Given the description of an element on the screen output the (x, y) to click on. 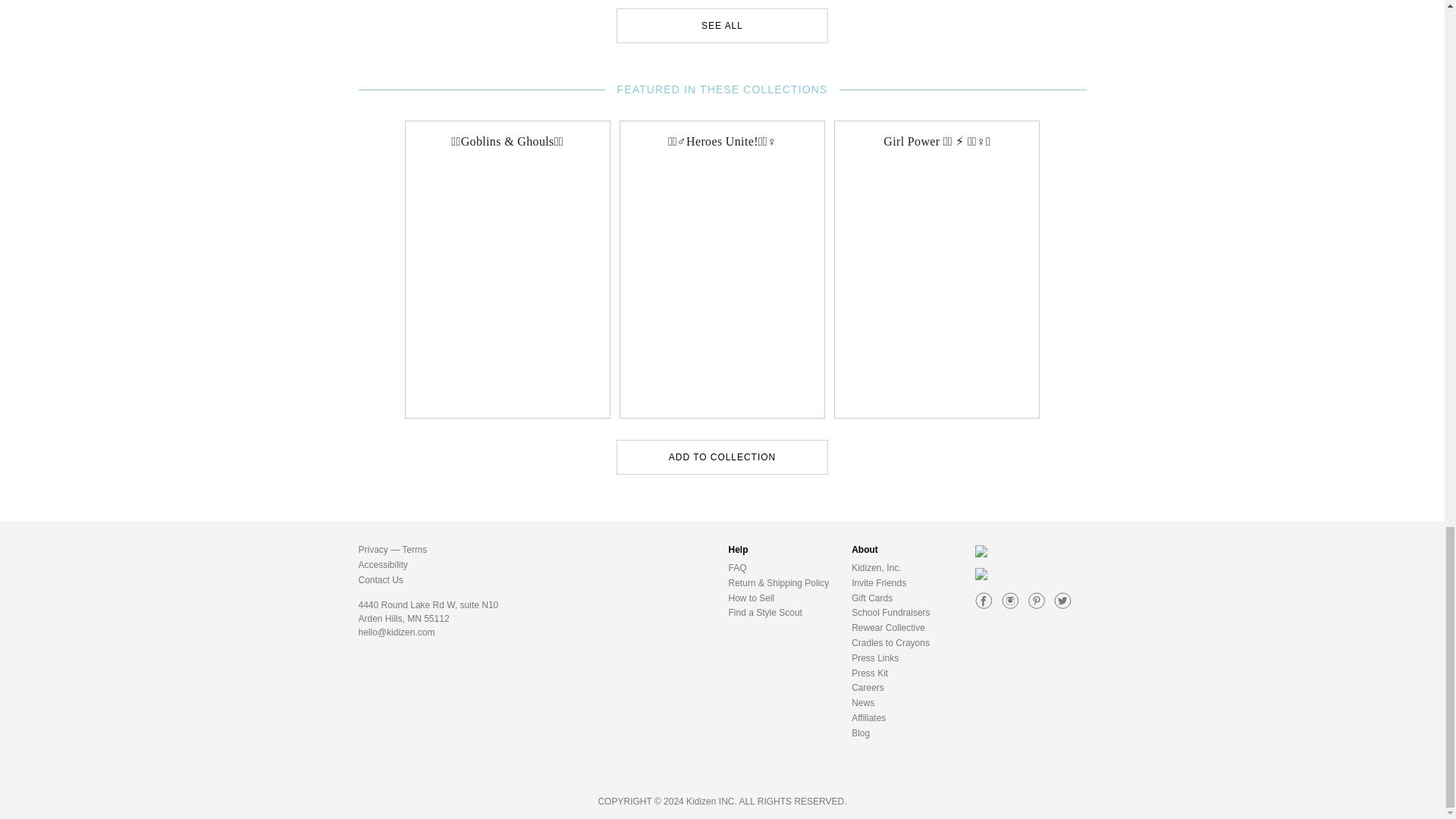
Group 5 Created with Sketch. (1036, 600)
Group 2 Created with Sketch. (983, 600)
Group 3 Created with Sketch. (1010, 600)
